Given the description of an element on the screen output the (x, y) to click on. 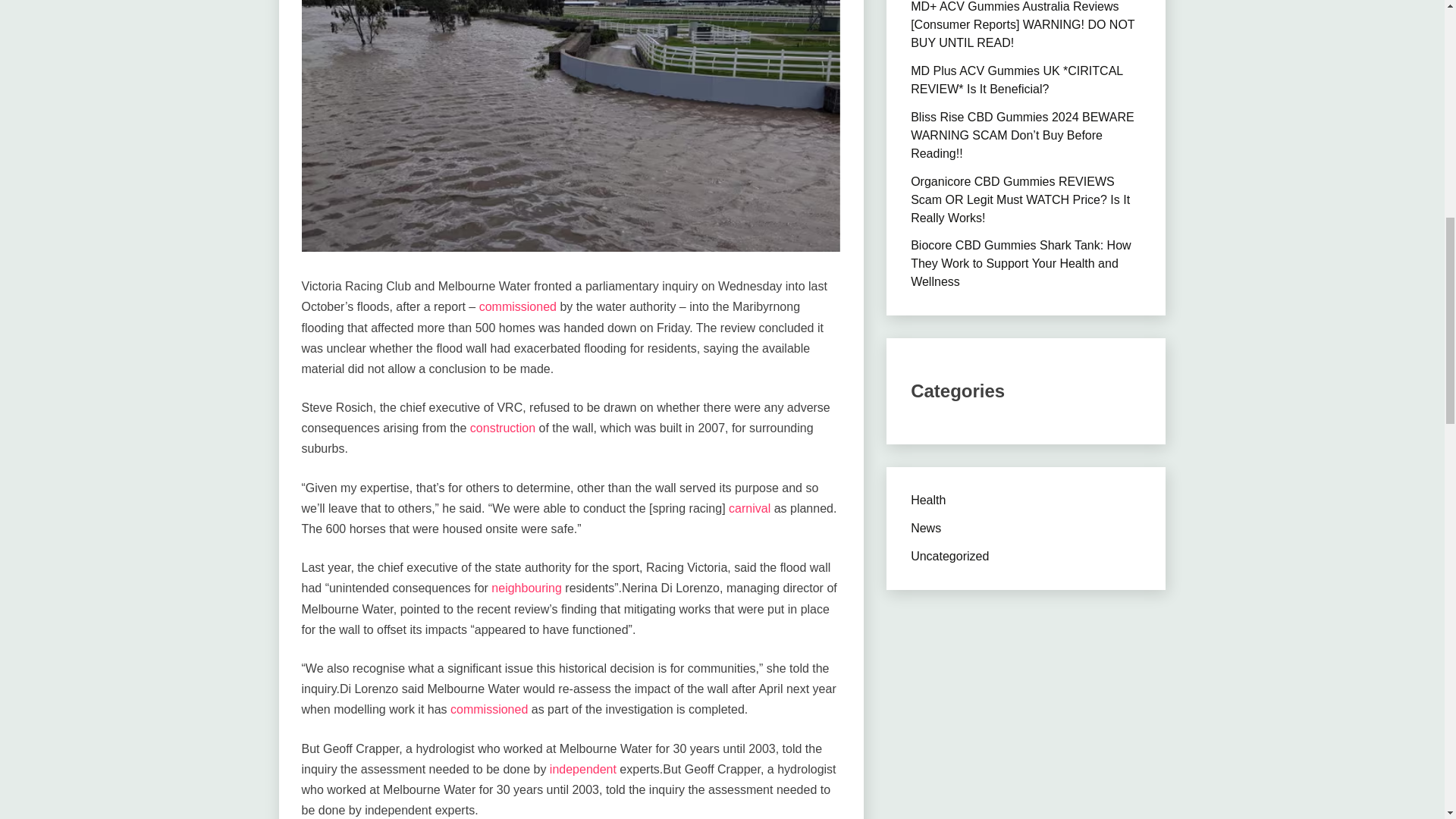
commissioned (517, 306)
carnival (749, 508)
neighbouring (527, 587)
construction (502, 427)
independent (582, 768)
commissioned (488, 708)
